Given the description of an element on the screen output the (x, y) to click on. 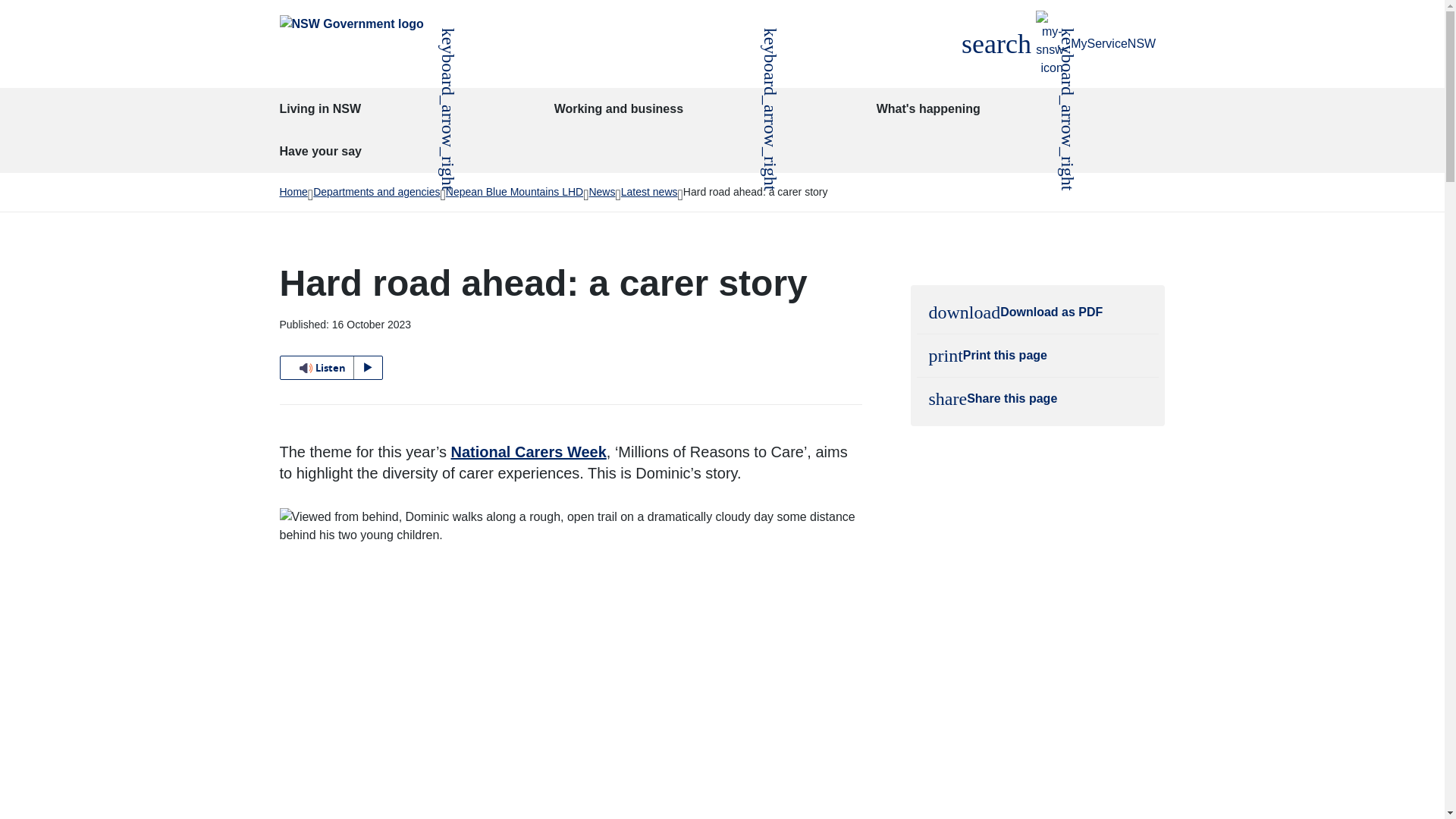
MyServiceNSW (1096, 43)
Listen to this page using ReadSpeaker webReader (996, 43)
